Given the description of an element on the screen output the (x, y) to click on. 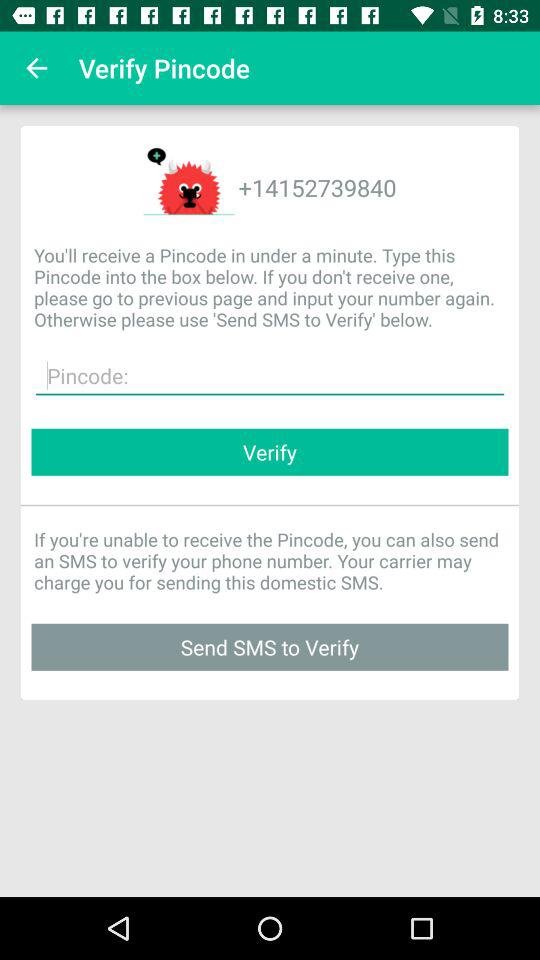
enter password (269, 375)
